Given the description of an element on the screen output the (x, y) to click on. 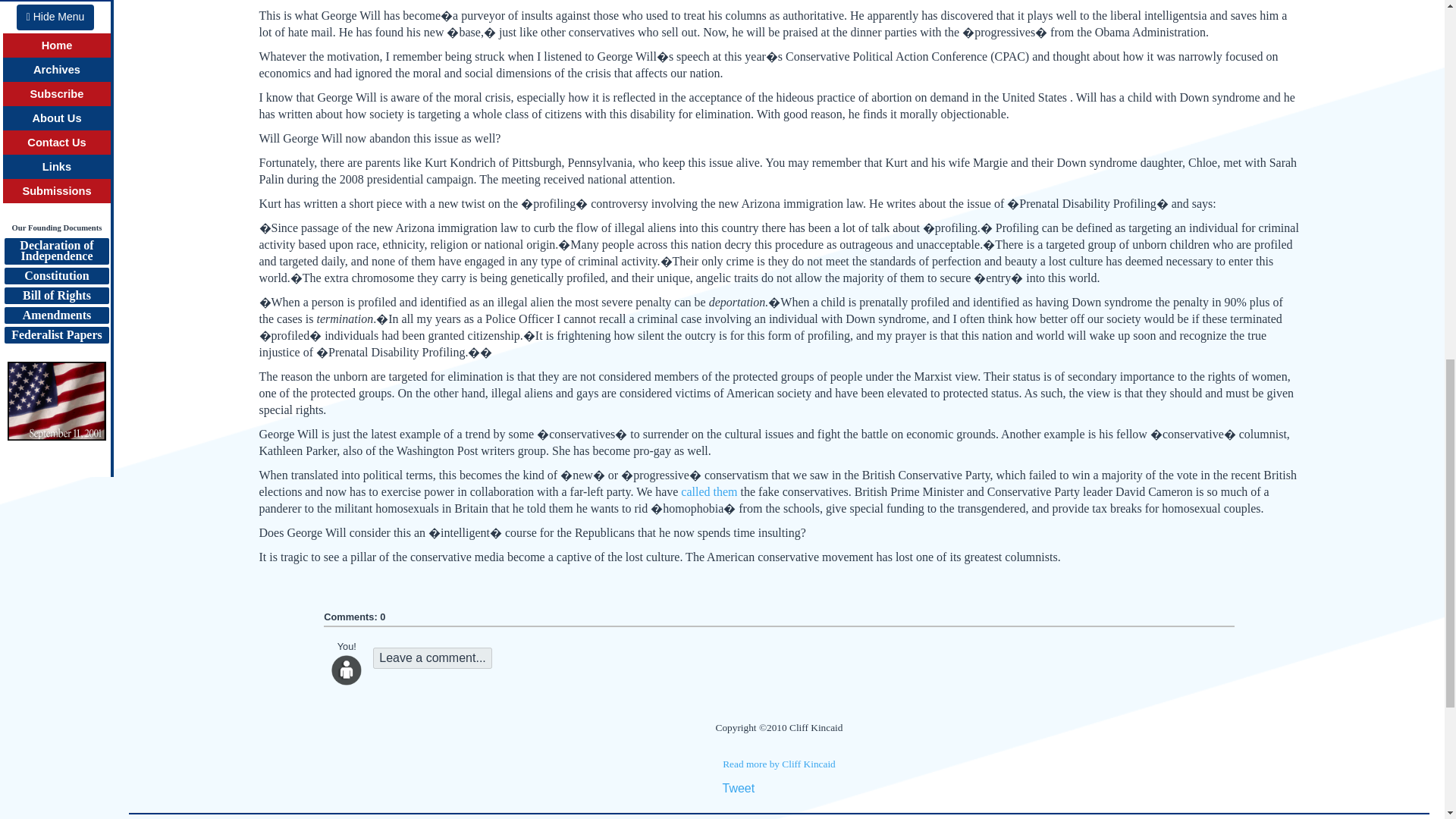
Leave a comment... (432, 658)
Tweet (738, 788)
called them (708, 491)
Read more by Cliff Kincaid (778, 763)
